Given the description of an element on the screen output the (x, y) to click on. 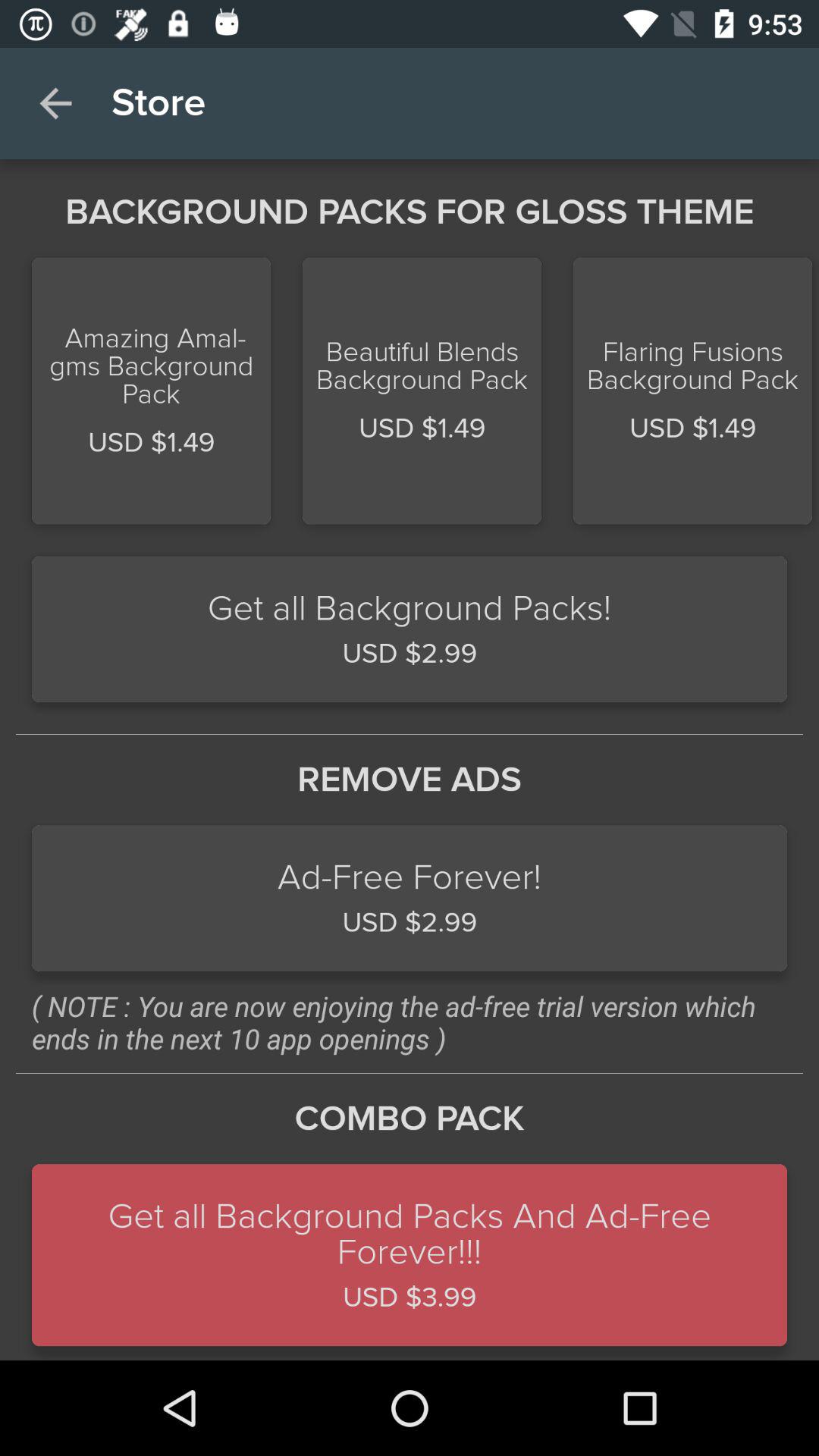
turn off the item to the left of store icon (55, 103)
